Given the description of an element on the screen output the (x, y) to click on. 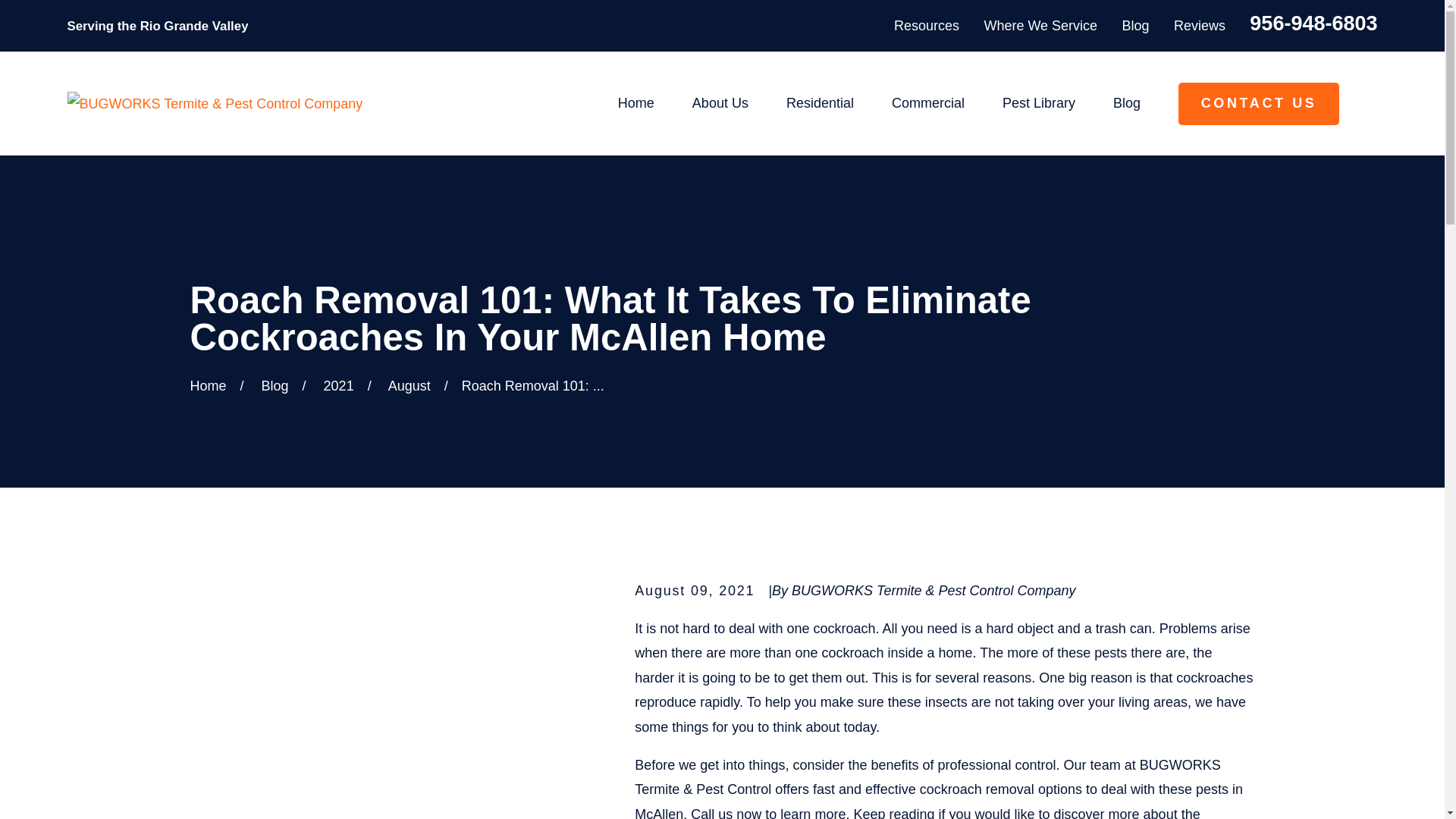
Blog (1136, 25)
Where We Service (1040, 25)
Go Home (207, 385)
Resources (926, 25)
Pest Library (1039, 103)
Home (214, 103)
Commercial (927, 103)
956-948-6803 (1313, 23)
Reviews (1199, 25)
